Given the description of an element on the screen output the (x, y) to click on. 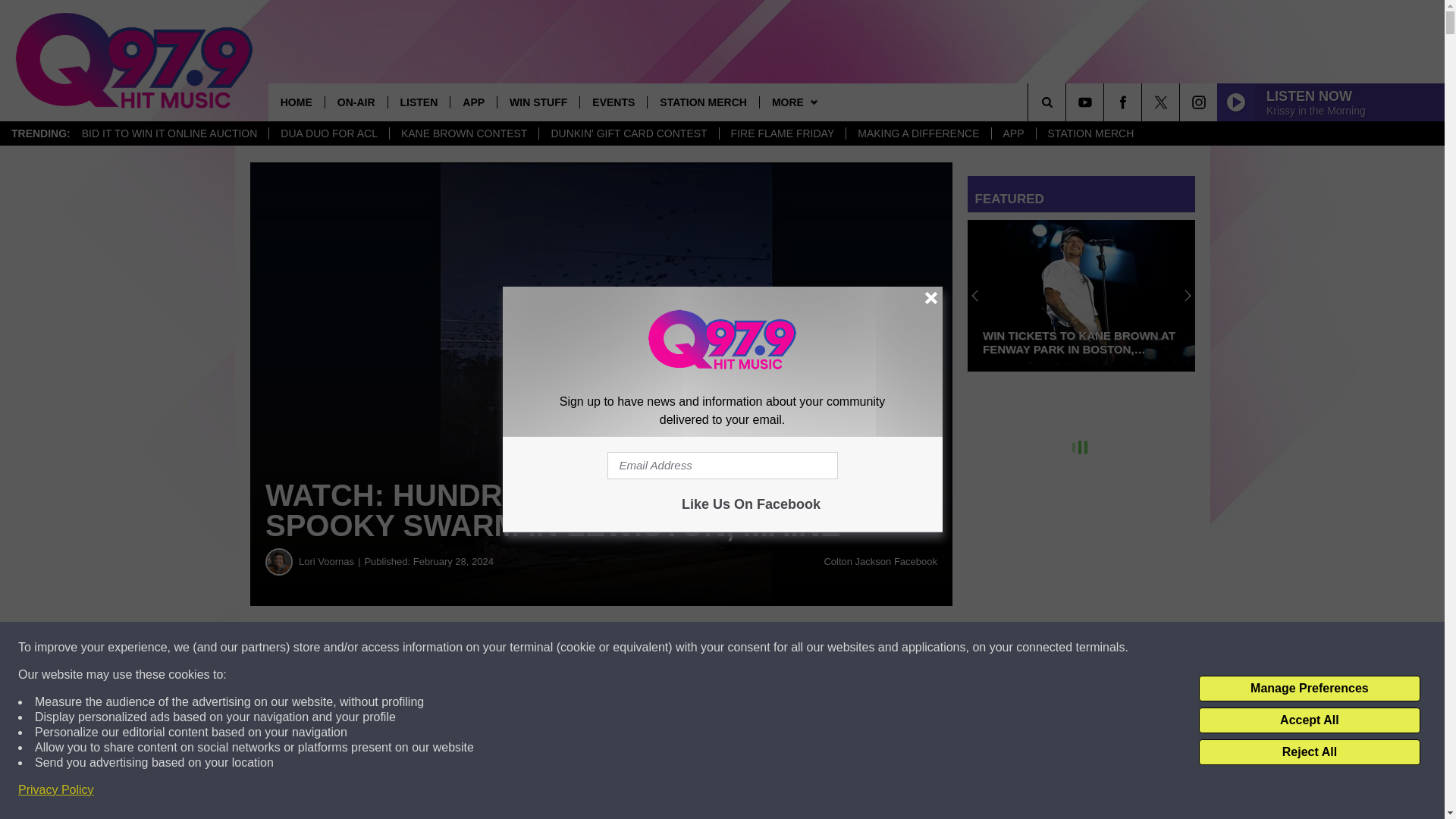
FIRE FLAME FRIDAY (782, 133)
APP (1013, 133)
Email Address (722, 465)
LISTEN (418, 102)
DUA DUO FOR ACL (327, 133)
MAKING A DIFFERENCE (917, 133)
BID IT TO WIN IT ONLINE AUCTION (169, 133)
Accept All (1309, 720)
STATION MERCH (1090, 133)
APP (472, 102)
Privacy Policy (55, 789)
Reject All (1309, 751)
Share on Facebook (460, 647)
WIN STUFF (537, 102)
KANE BROWN CONTEST (463, 133)
